Given the description of an element on the screen output the (x, y) to click on. 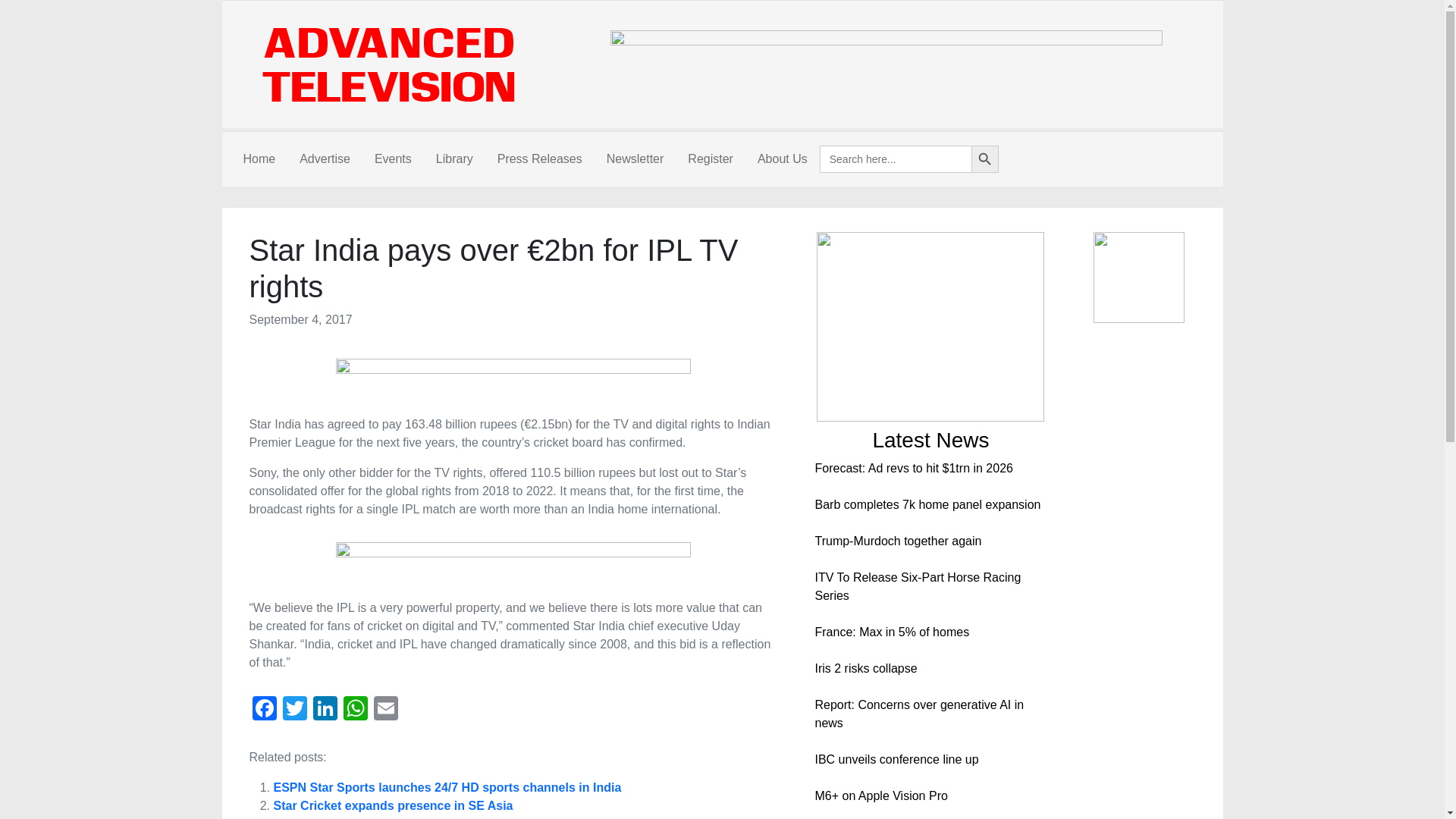
Twitter (293, 709)
Advertise (324, 158)
Trump-Murdoch together again (897, 540)
Facebook (263, 709)
Email (384, 709)
About Us (782, 158)
Events (392, 158)
Barb completes 7k home panel expansion (927, 504)
Newsletter (635, 158)
Search Button (984, 158)
ITV To Release Six-Part Horse Racing Series (916, 585)
WhatsApp (354, 709)
Facebook (263, 709)
Register (710, 158)
